Given the description of an element on the screen output the (x, y) to click on. 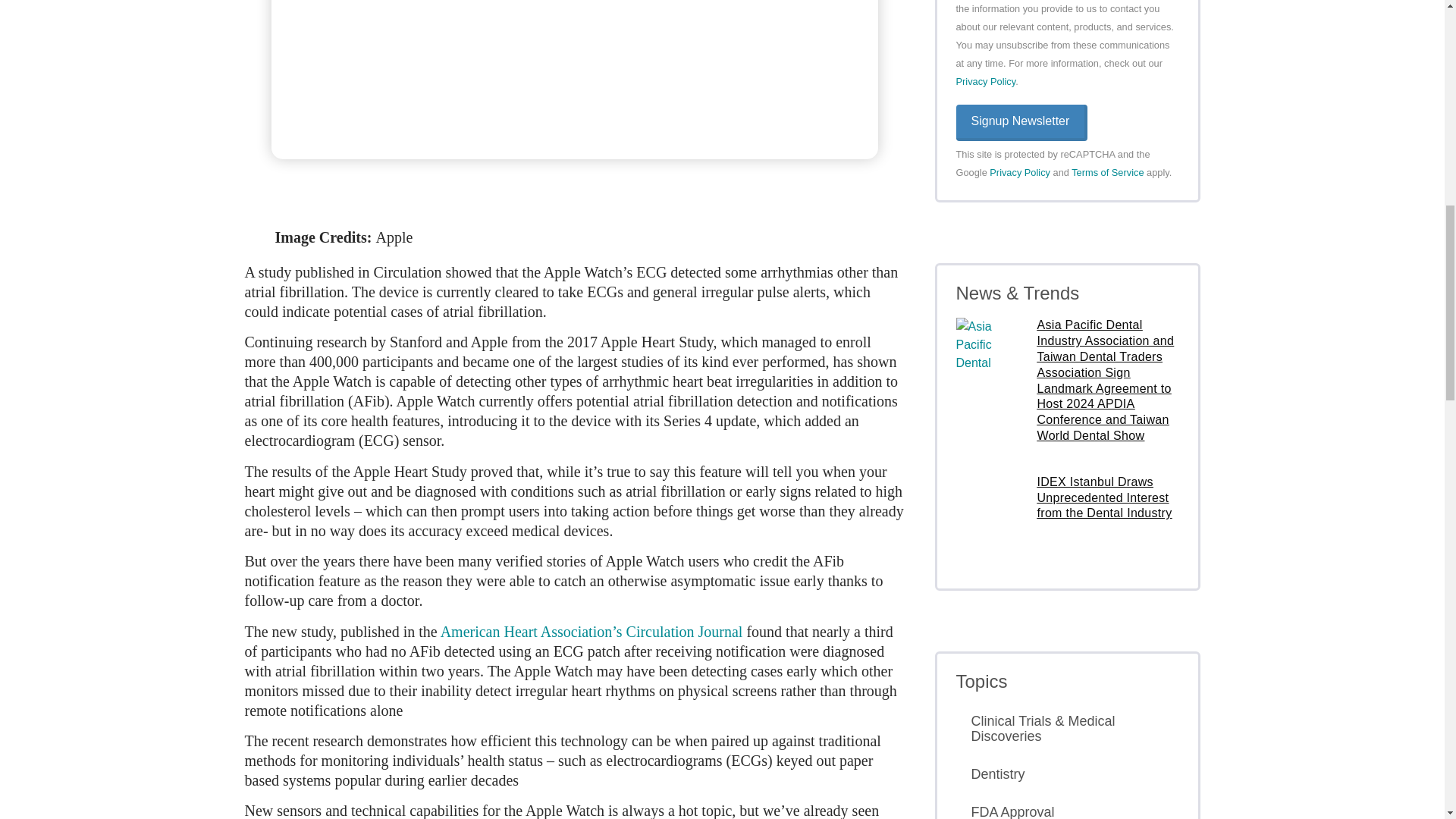
Privacy Policy (984, 81)
Signup Newsletter (1021, 122)
Dentistry (1066, 774)
FDA Approval (1066, 807)
Terms of Service (1106, 172)
Privacy Policy (1019, 172)
